Given the description of an element on the screen output the (x, y) to click on. 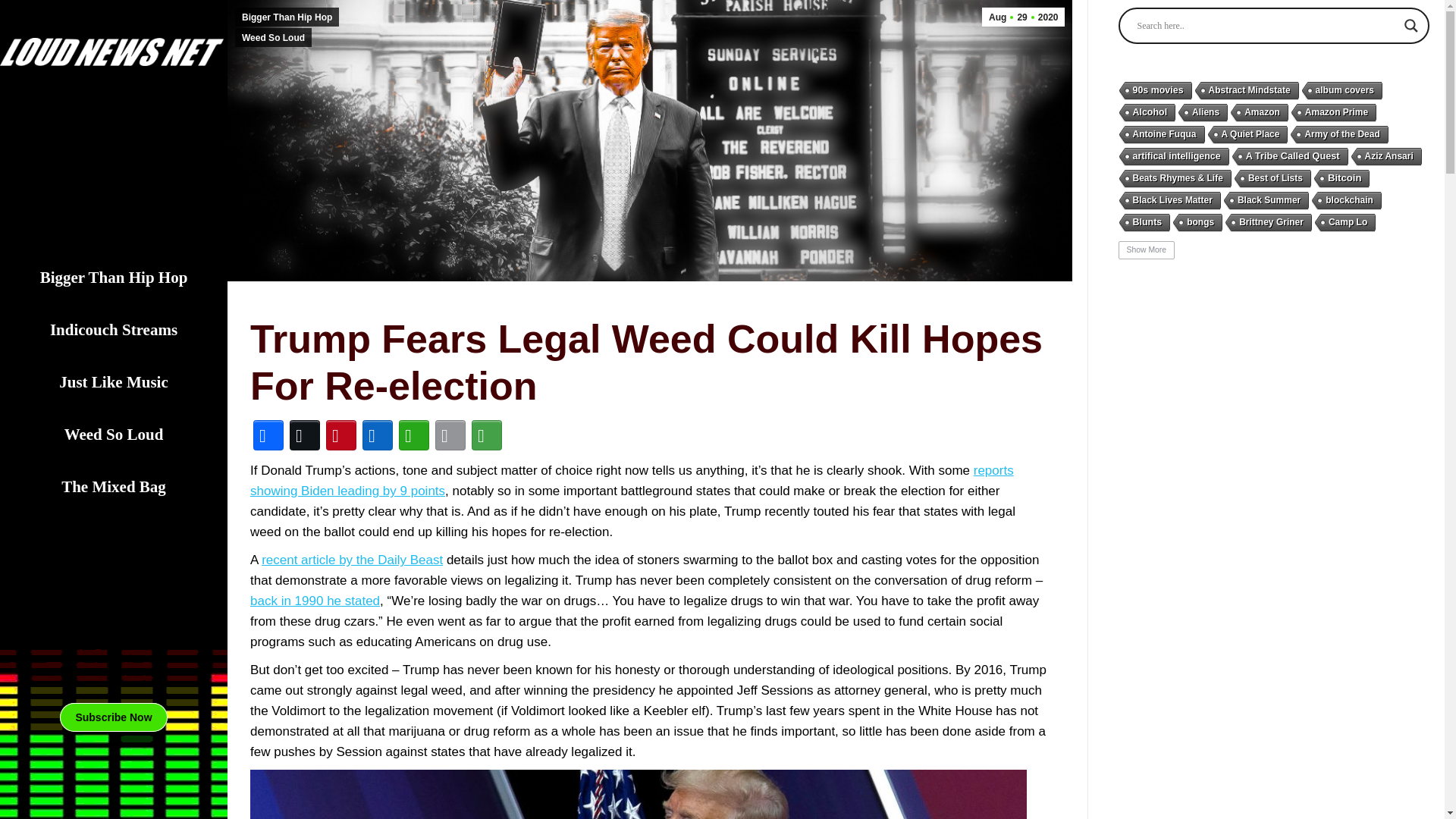
Indicouch Streams (113, 330)
Bigger Than Hip Hop (286, 16)
back in 1990 he stated (315, 600)
Bigger Than Hip Hop (113, 277)
Weed So Loud (272, 36)
The Mixed Bag (113, 487)
Just Like Music (1022, 16)
Weed So Loud (113, 382)
Subscribe Now (113, 434)
reports showing Biden leading by 9 points (113, 717)
recent article by the Daily Beast (631, 480)
